Given the description of an element on the screen output the (x, y) to click on. 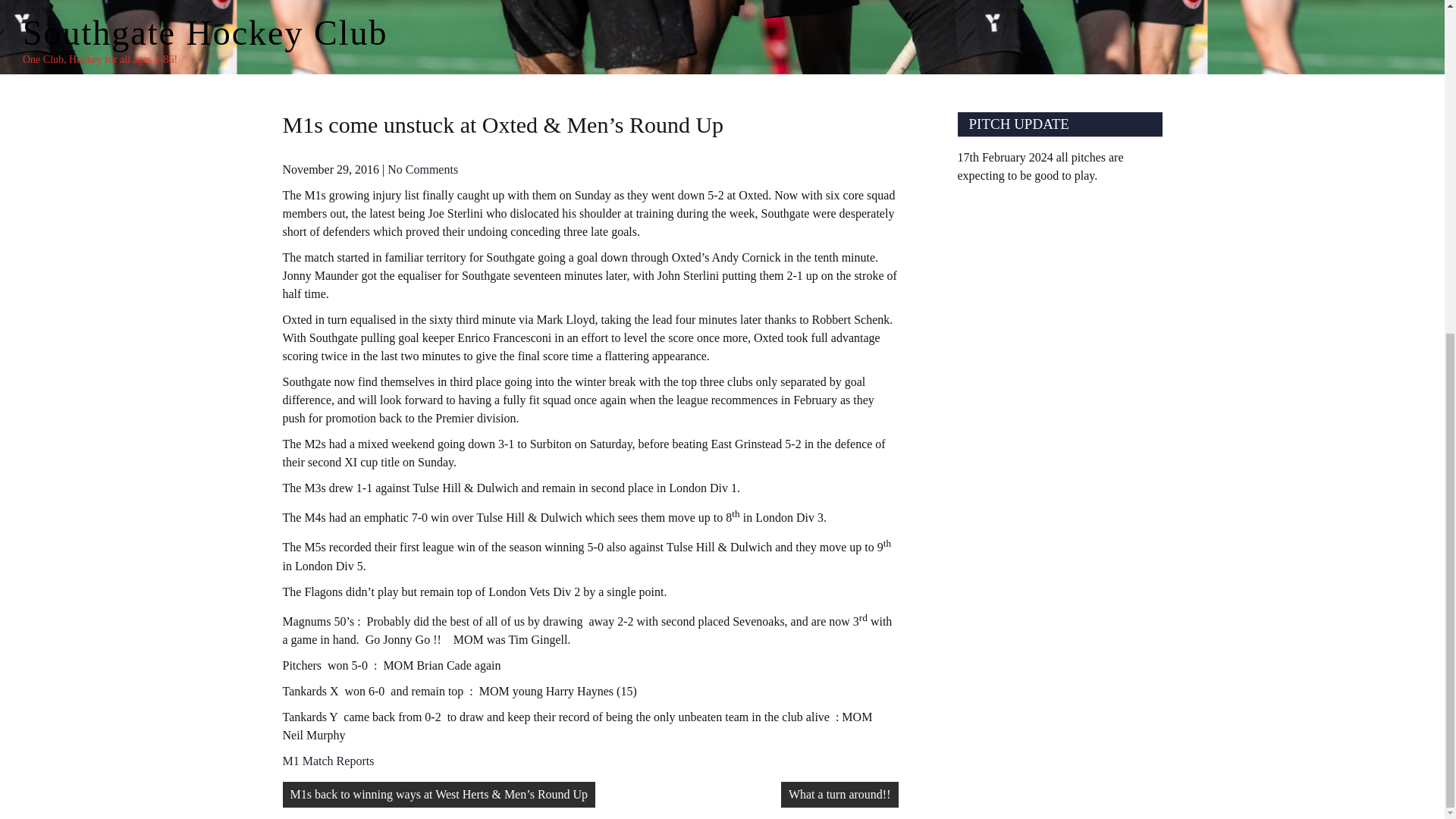
Southgate Hockey Club (205, 32)
What a turn around!! (839, 794)
No Comments (422, 169)
M1 Match Reports (328, 760)
